Given the description of an element on the screen output the (x, y) to click on. 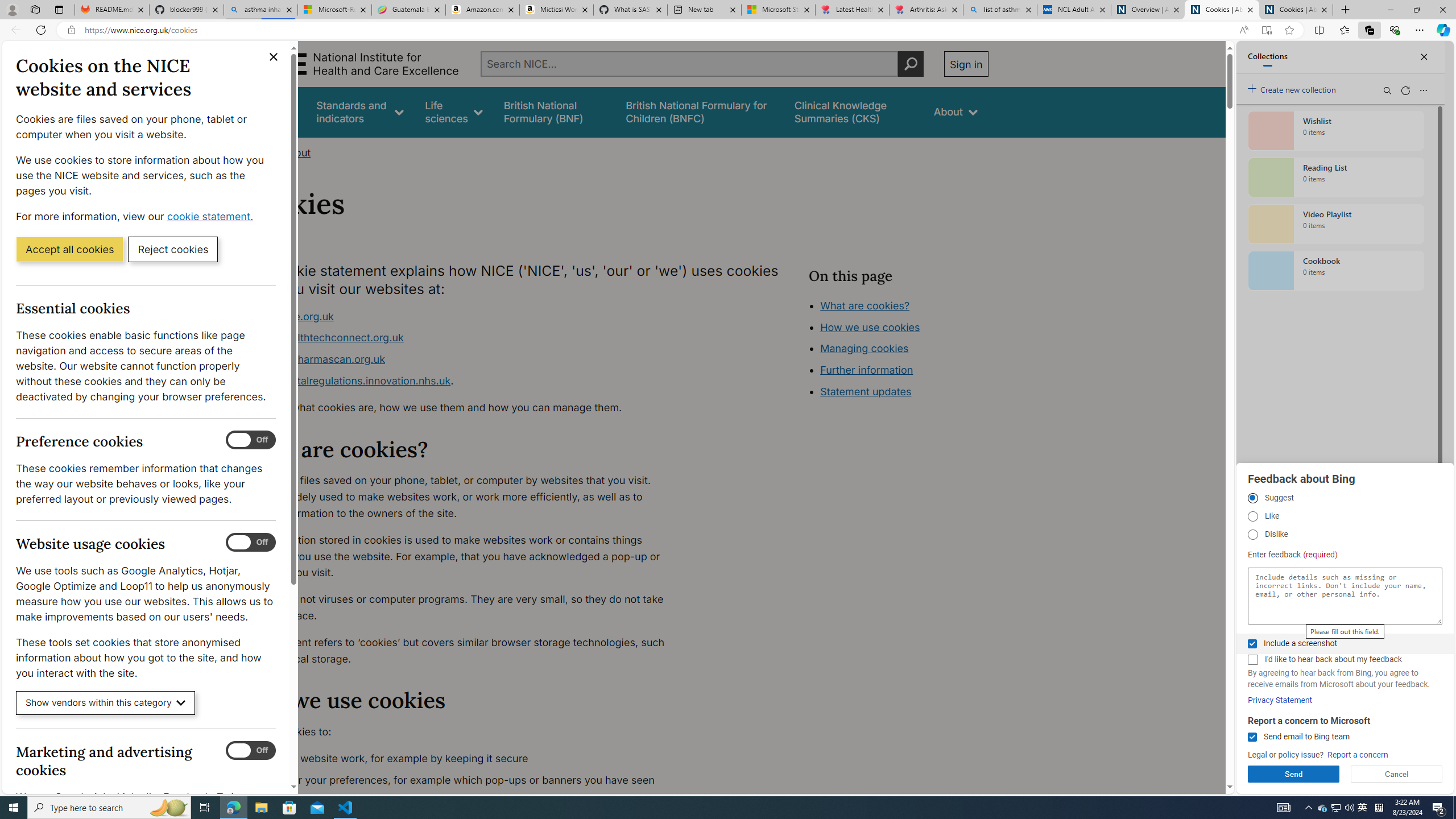
App bar (728, 29)
Suggest (1252, 498)
Split screen (1318, 29)
Perform search (909, 63)
Back (13, 29)
Marketing and advertising cookies (250, 750)
Copilot (Ctrl+Shift+.) (1442, 29)
Enter Immersive Reader (F9) (1266, 29)
Browser essentials (1394, 29)
Send email to Bing team (1251, 737)
